Given the description of an element on the screen output the (x, y) to click on. 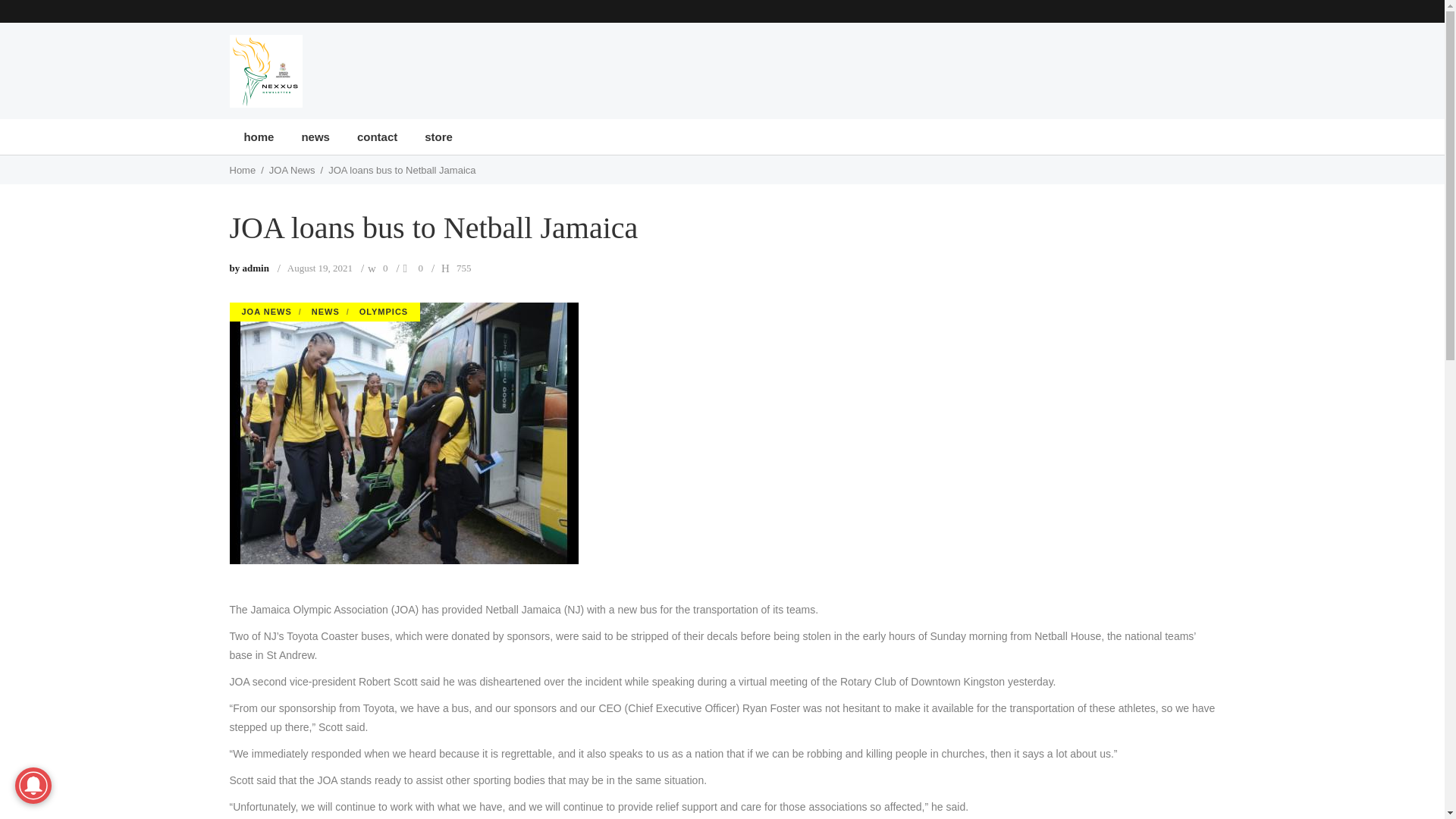
August 19, 2021 (319, 267)
0 (385, 267)
JOA NEWS (264, 311)
NEWS (325, 311)
home (258, 136)
news (314, 136)
0 (421, 267)
by admin (247, 267)
Home (242, 169)
OLYMPICS (384, 311)
Like this (421, 267)
store (437, 136)
JOA News (292, 169)
contact (376, 136)
